Given the description of an element on the screen output the (x, y) to click on. 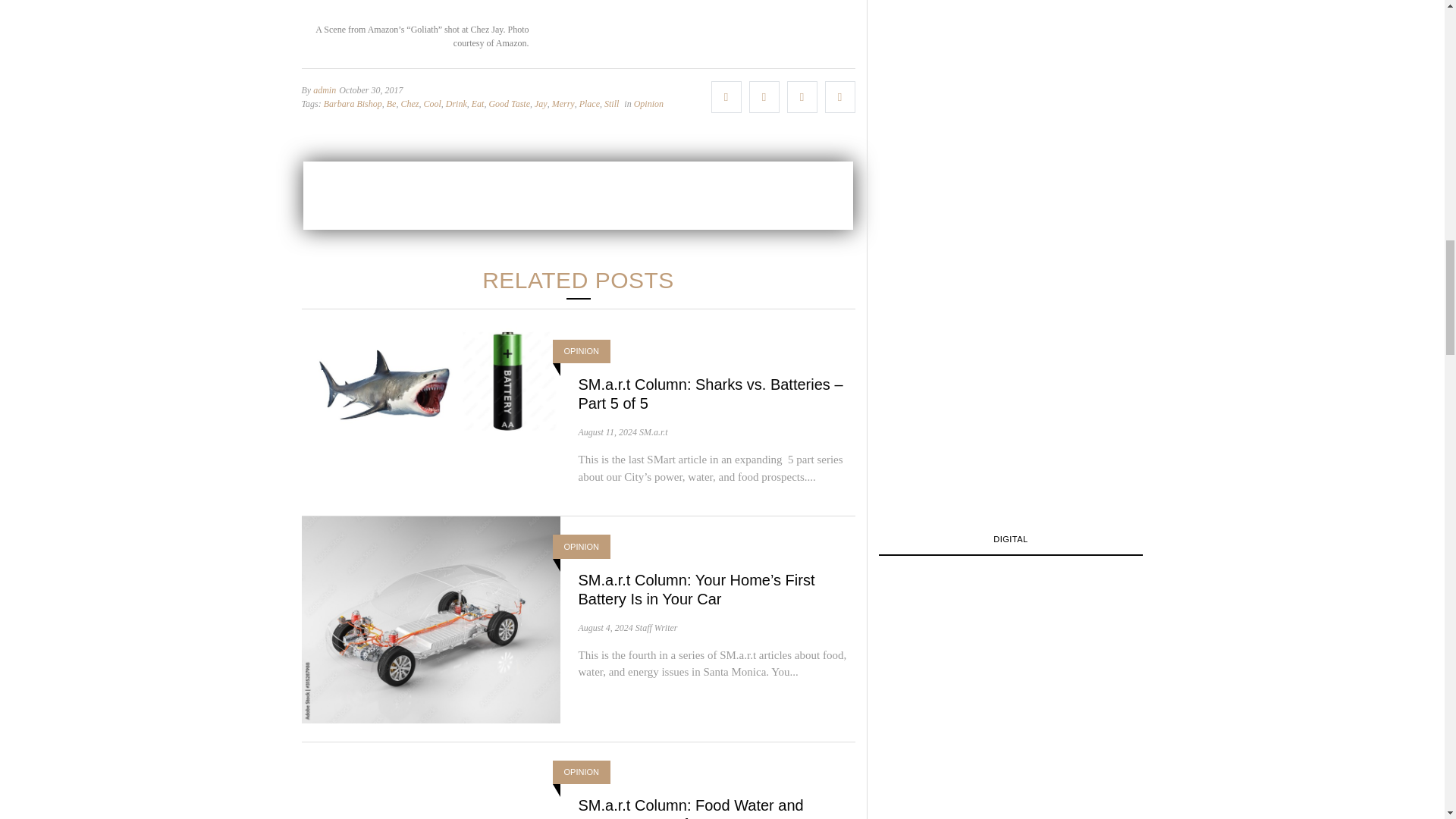
Barbara Bishop (352, 103)
SM.a.r.t Column: Food Water and Energy Part 3 of 4 (690, 807)
Posts by SM.a.r.t (653, 431)
Chez (409, 103)
Posts by admin (324, 90)
admin (324, 90)
Posts by Staff Writer (656, 626)
3rd party ad content (577, 195)
Cool (432, 103)
